Given the description of an element on the screen output the (x, y) to click on. 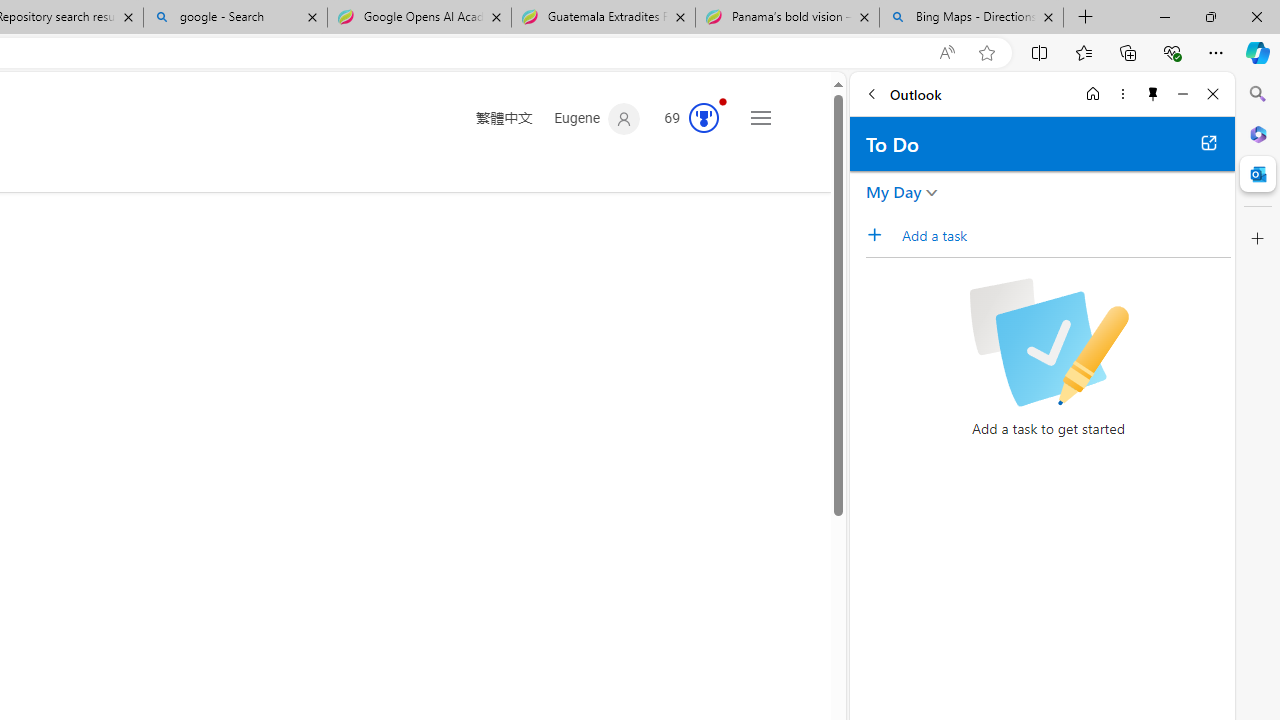
Settings and quick links (760, 117)
Checkbox with a pencil (1047, 342)
Unpin side pane (1153, 93)
Animation (723, 101)
google - Search (234, 17)
Open in new tab (1208, 142)
